Given the description of an element on the screen output the (x, y) to click on. 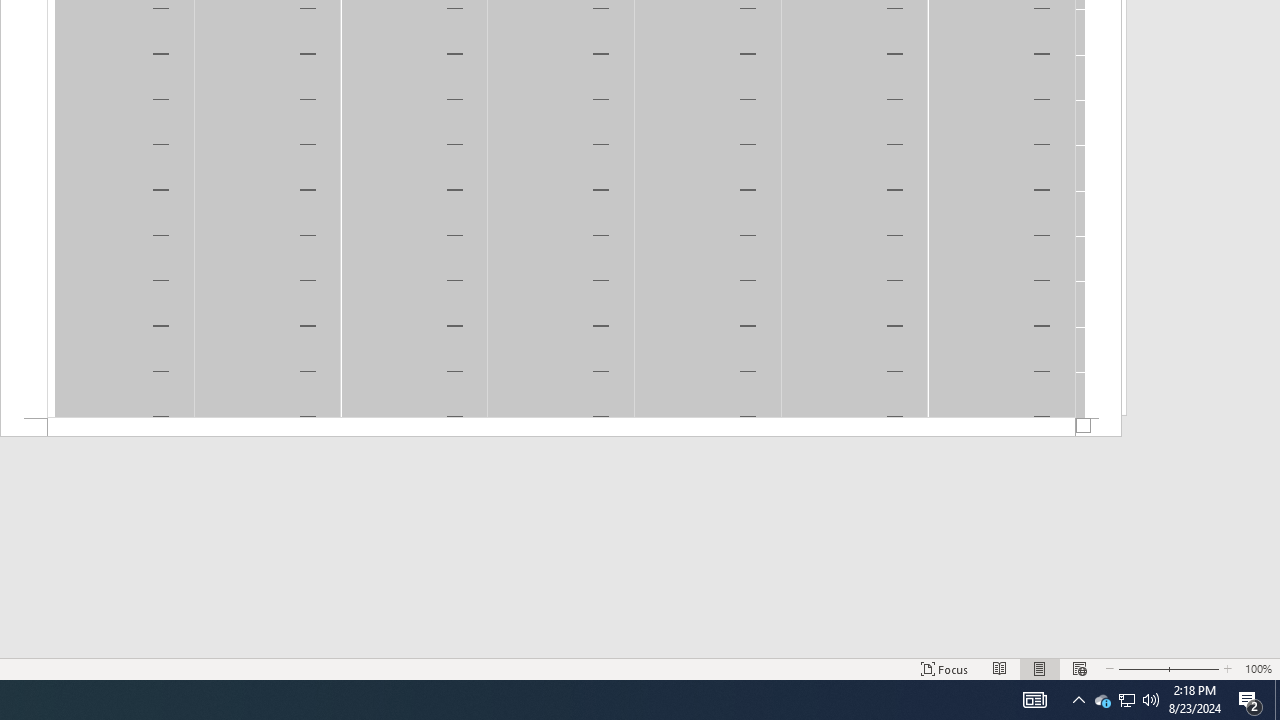
Footer -Section 1- (561, 427)
